Given the description of an element on the screen output the (x, y) to click on. 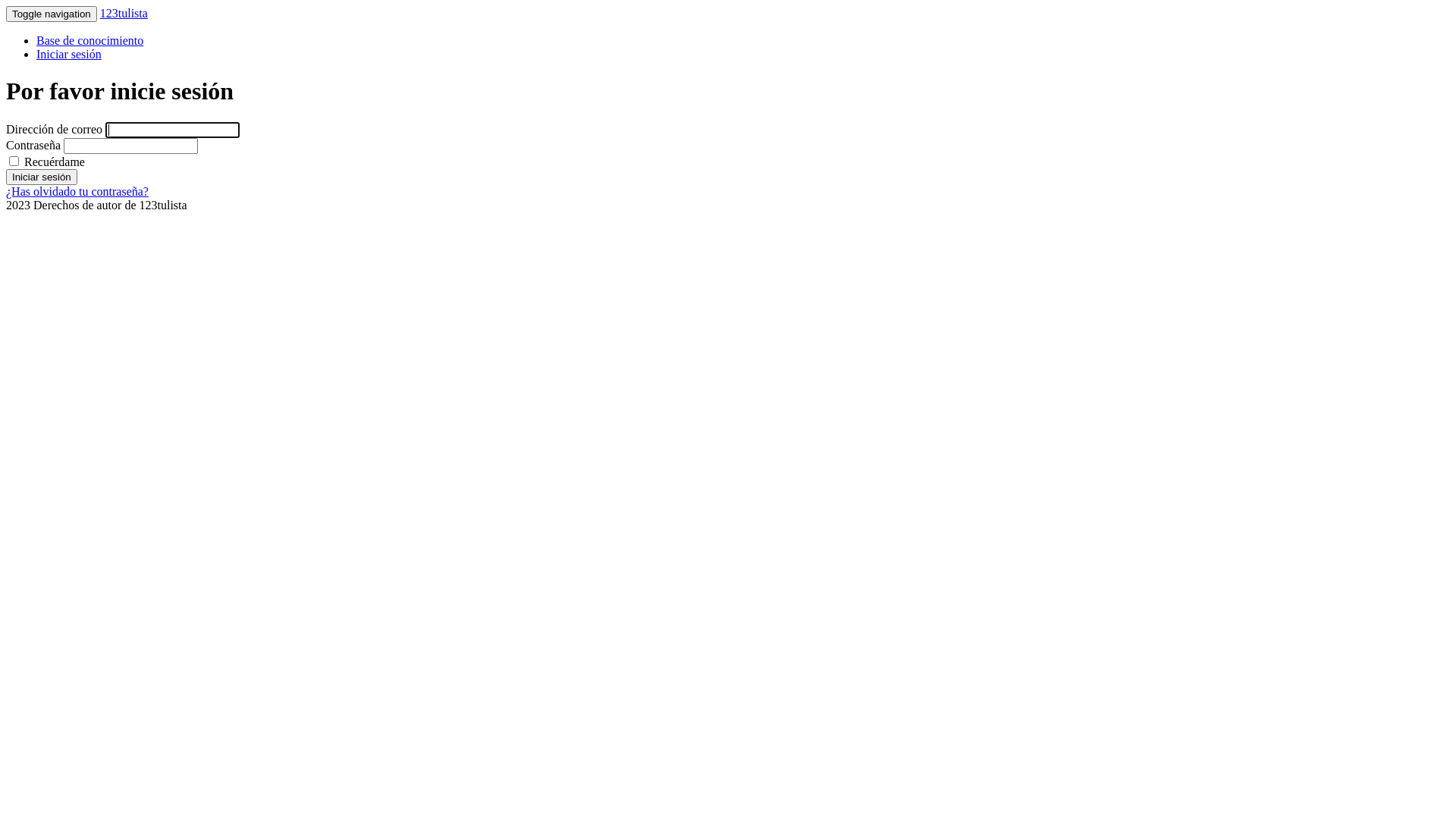
Toggle navigation Element type: text (51, 13)
Base de conocimiento Element type: text (89, 40)
123tulista Element type: text (123, 12)
